Given the description of an element on the screen output the (x, y) to click on. 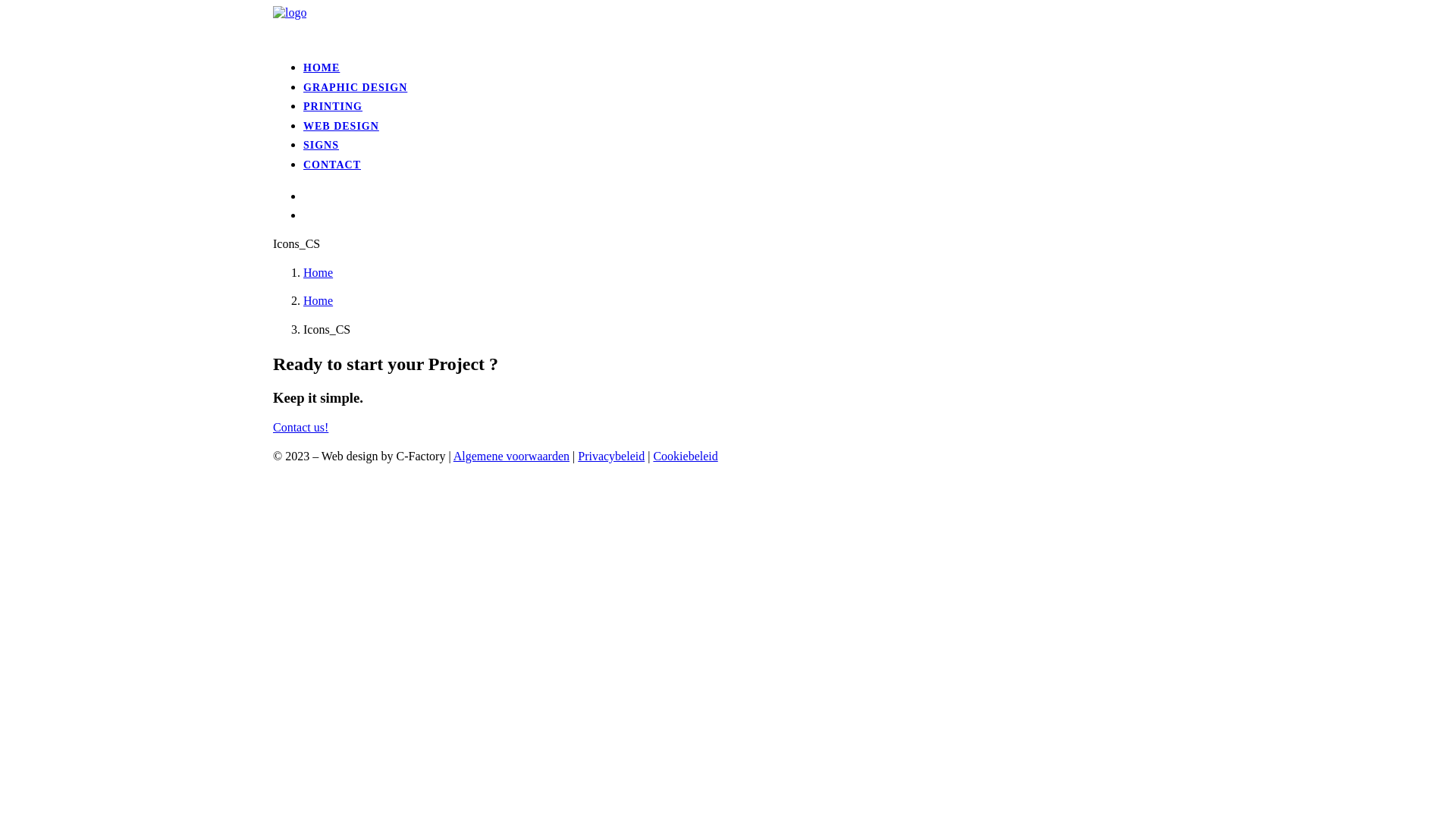
Contact us! Element type: text (300, 426)
SIGNS Element type: text (320, 144)
PRINTING Element type: text (332, 106)
Home Element type: text (317, 300)
Cookiebeleid Element type: text (684, 455)
GRAPHIC DESIGN Element type: text (355, 87)
WEB DESIGN Element type: text (341, 125)
Home Element type: text (317, 272)
HOME Element type: text (321, 67)
CONTACT Element type: text (331, 164)
Privacybeleid Element type: text (610, 455)
Algemene voorwaarden Element type: text (511, 455)
